Given the description of an element on the screen output the (x, y) to click on. 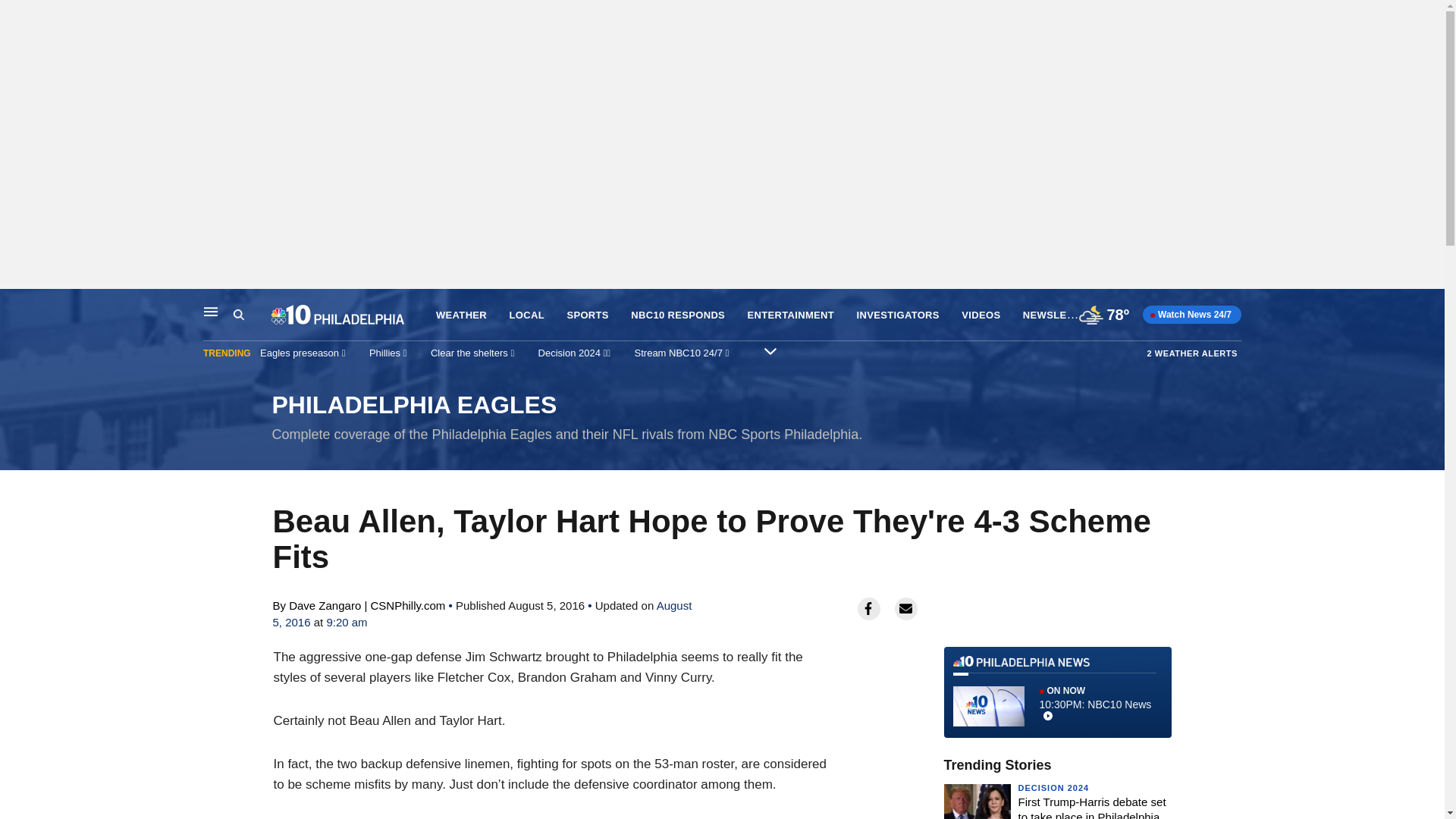
INVESTIGATORS (898, 315)
NBC10 RESPONDS (1056, 692)
NEWSLETTERS (677, 315)
LOCAL (1061, 314)
2 WEATHER ALERTS (526, 315)
DECISION 2024 (1192, 352)
SPORTS (1053, 787)
VIDEOS (587, 315)
